Given the description of an element on the screen output the (x, y) to click on. 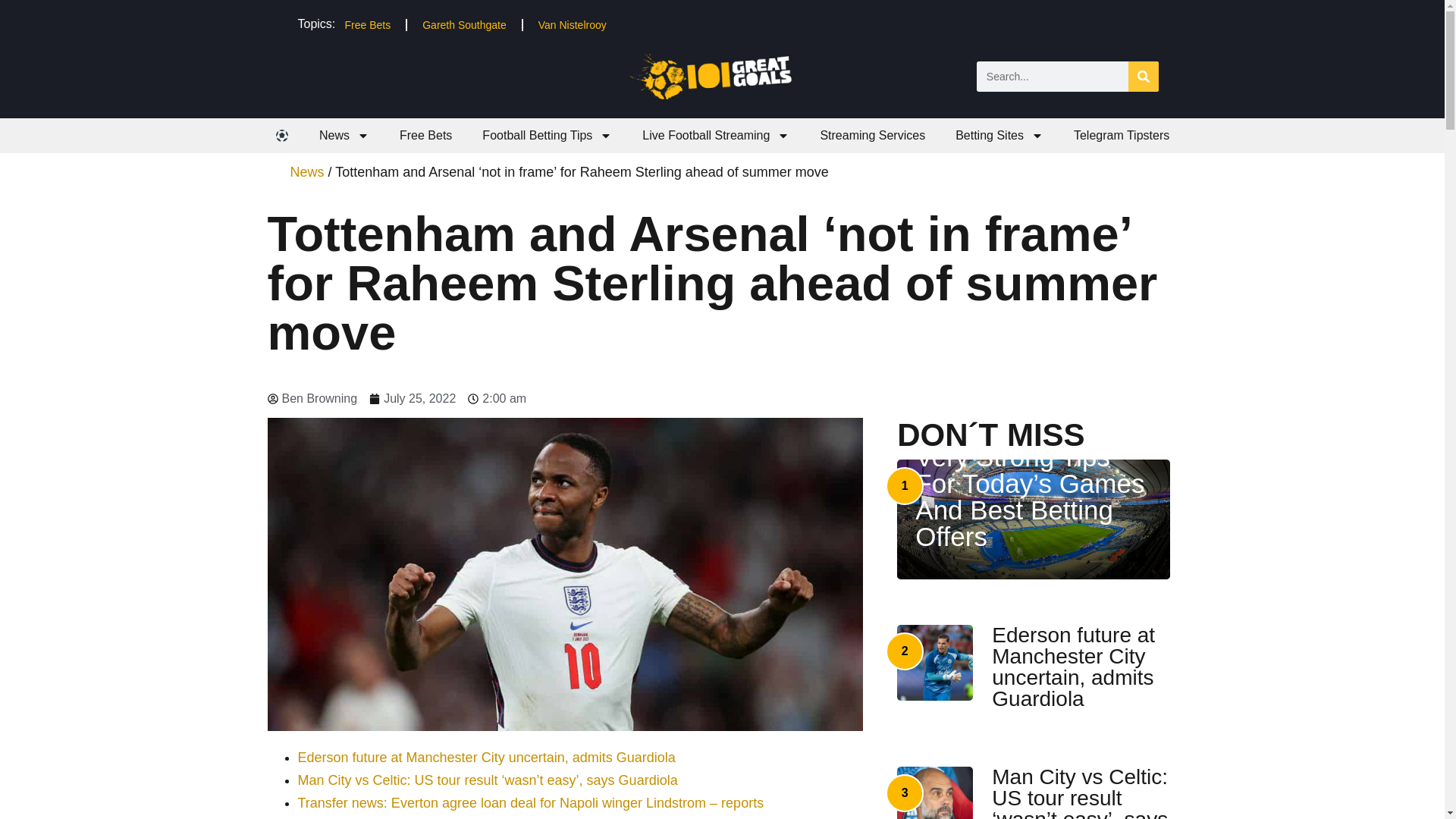
Streaming Services (872, 135)
Football Betting Tips (547, 135)
Gareth Southgate (464, 24)
Van Nistelrooy (571, 24)
Live Football Streaming (716, 135)
Betting Sites (999, 135)
Free Bets (425, 135)
Free Bets (367, 24)
News (344, 135)
